Given the description of an element on the screen output the (x, y) to click on. 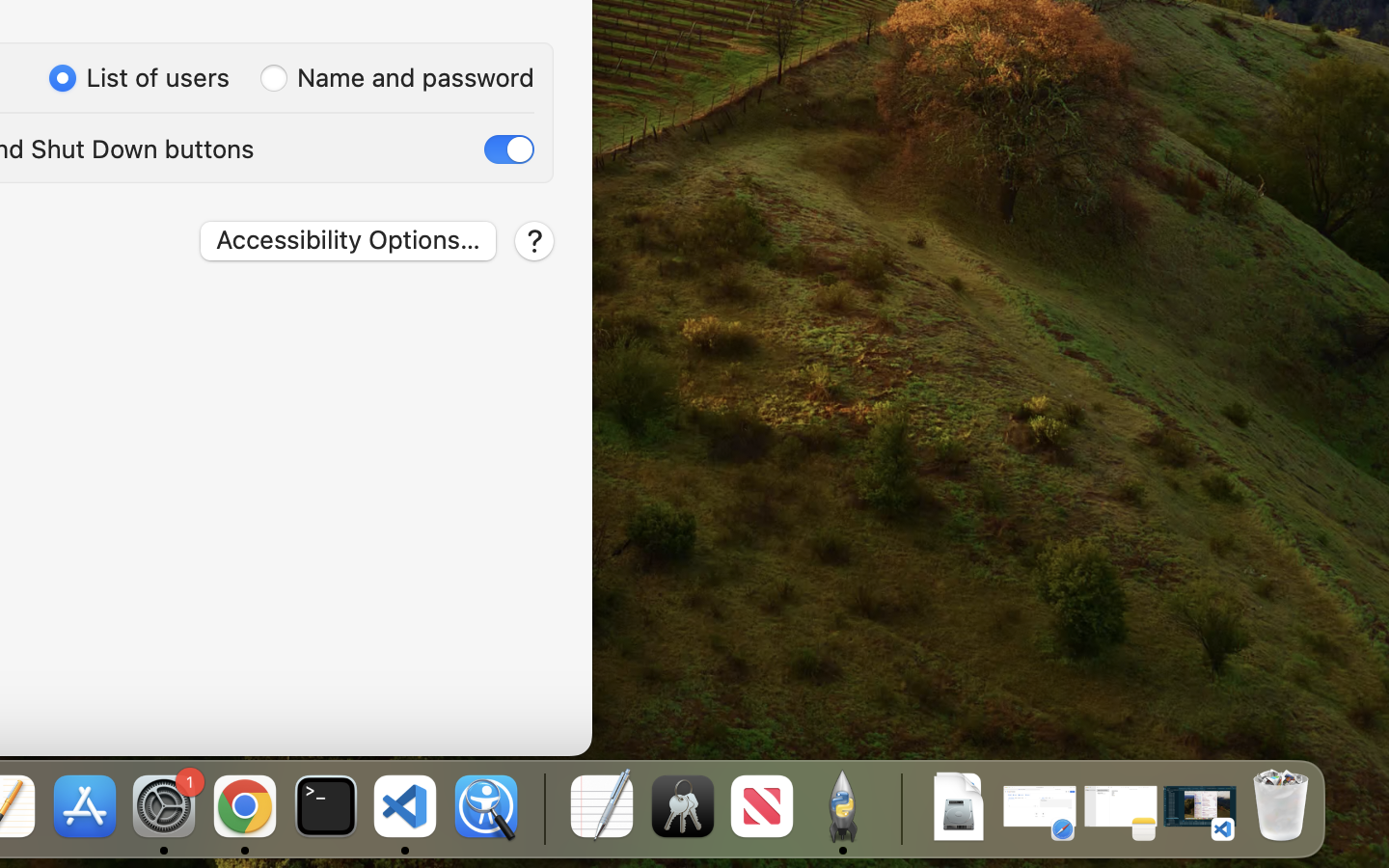
0.4285714328289032 Element type: AXDockItem (541, 807)
